Given the description of an element on the screen output the (x, y) to click on. 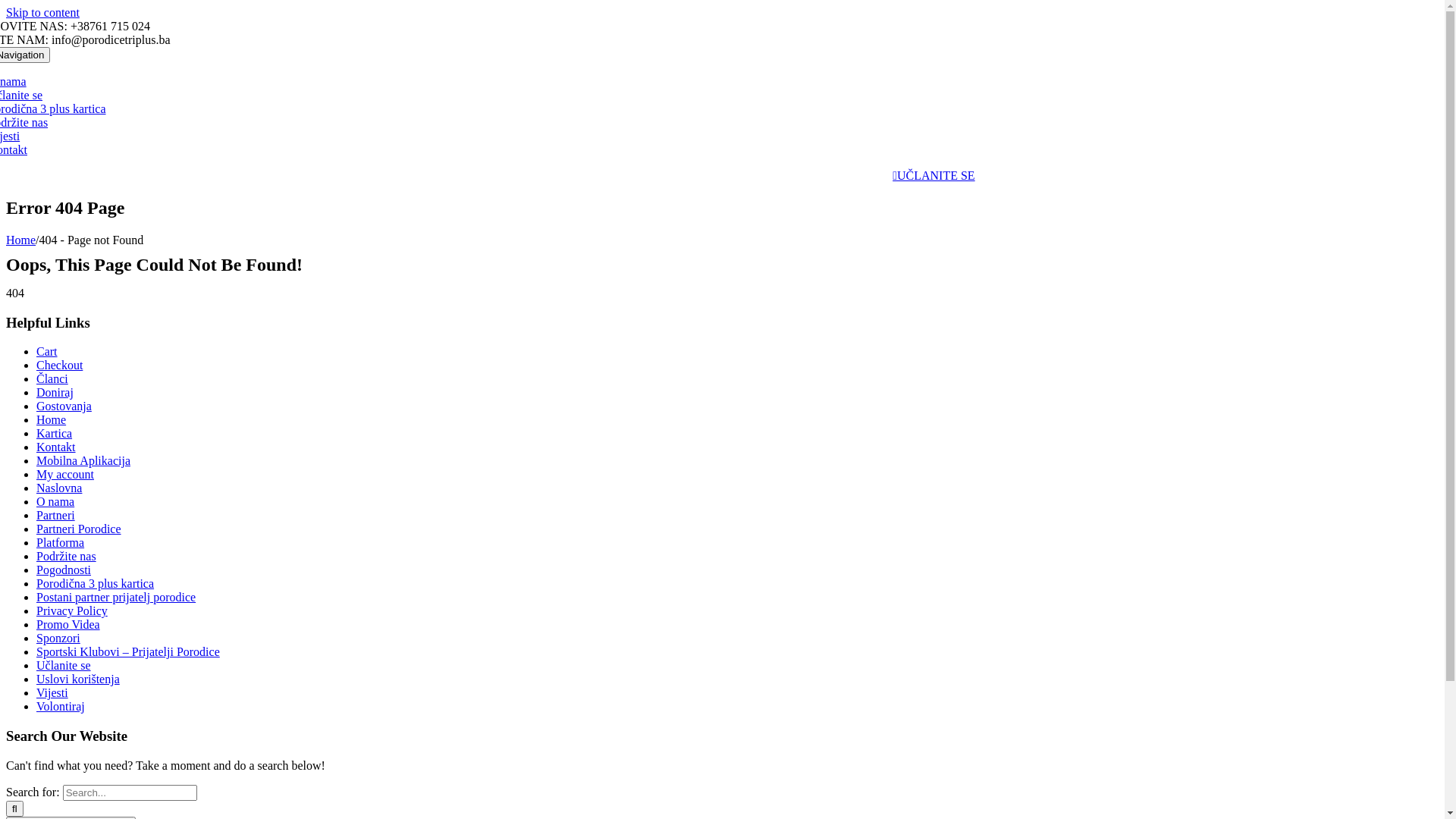
Volontiraj Element type: text (60, 705)
Home Element type: text (50, 419)
Gostovanja Element type: text (63, 405)
Partneri Porodice Element type: text (78, 528)
Platforma Element type: text (60, 542)
Naslovna Element type: text (58, 487)
Kartica Element type: text (54, 432)
Partneri Element type: text (55, 514)
Skip to content Element type: text (42, 12)
Pogodnosti Element type: text (63, 569)
Doniraj Element type: text (54, 391)
Checkout Element type: text (59, 364)
Cart Element type: text (46, 351)
Privacy Policy Element type: text (71, 610)
Mobilna Aplikacija Element type: text (83, 460)
O nama Element type: text (55, 501)
Kontakt Element type: text (55, 446)
Home Element type: text (20, 239)
Vijesti Element type: text (52, 692)
Postani partner prijatelj porodice Element type: text (115, 596)
Sponzori Element type: text (58, 637)
My account Element type: text (65, 473)
Promo Videa Element type: text (68, 624)
